Given the description of an element on the screen output the (x, y) to click on. 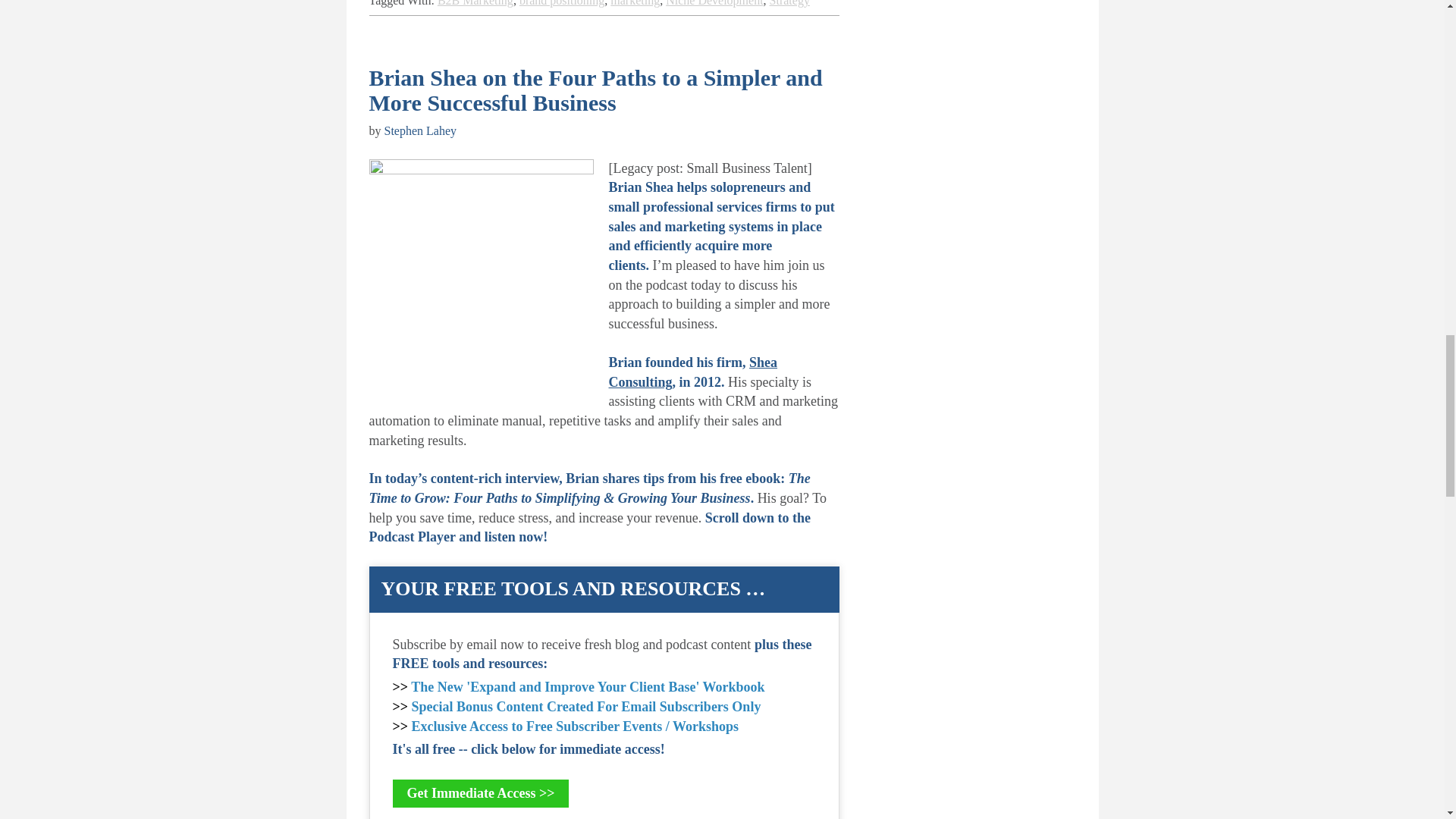
brand positioning (561, 3)
marketing (634, 3)
Niche Development (713, 3)
Stephen Lahey (420, 130)
B2B Marketing (475, 3)
Shea Consulting (692, 371)
Strategy (789, 3)
